Given the description of an element on the screen output the (x, y) to click on. 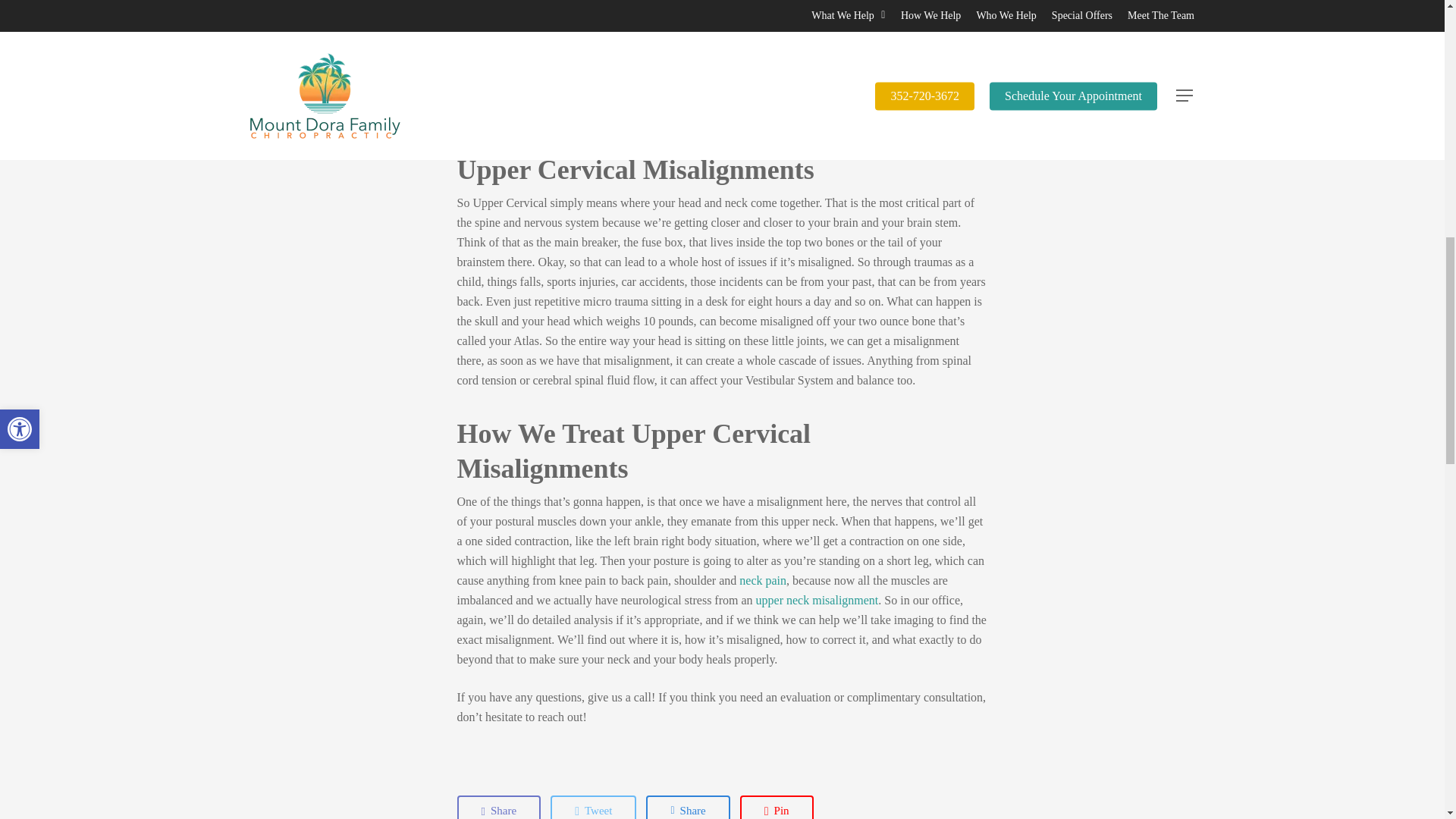
upper neck misalignment (817, 599)
Share this (687, 807)
Tweet (593, 807)
Share (498, 807)
Share (687, 807)
Tweet this (593, 807)
neck pain (659, 115)
neck pain (762, 580)
Share this (498, 807)
Pin (776, 807)
Pin this (776, 807)
Neck Pain (762, 580)
